Given the description of an element on the screen output the (x, y) to click on. 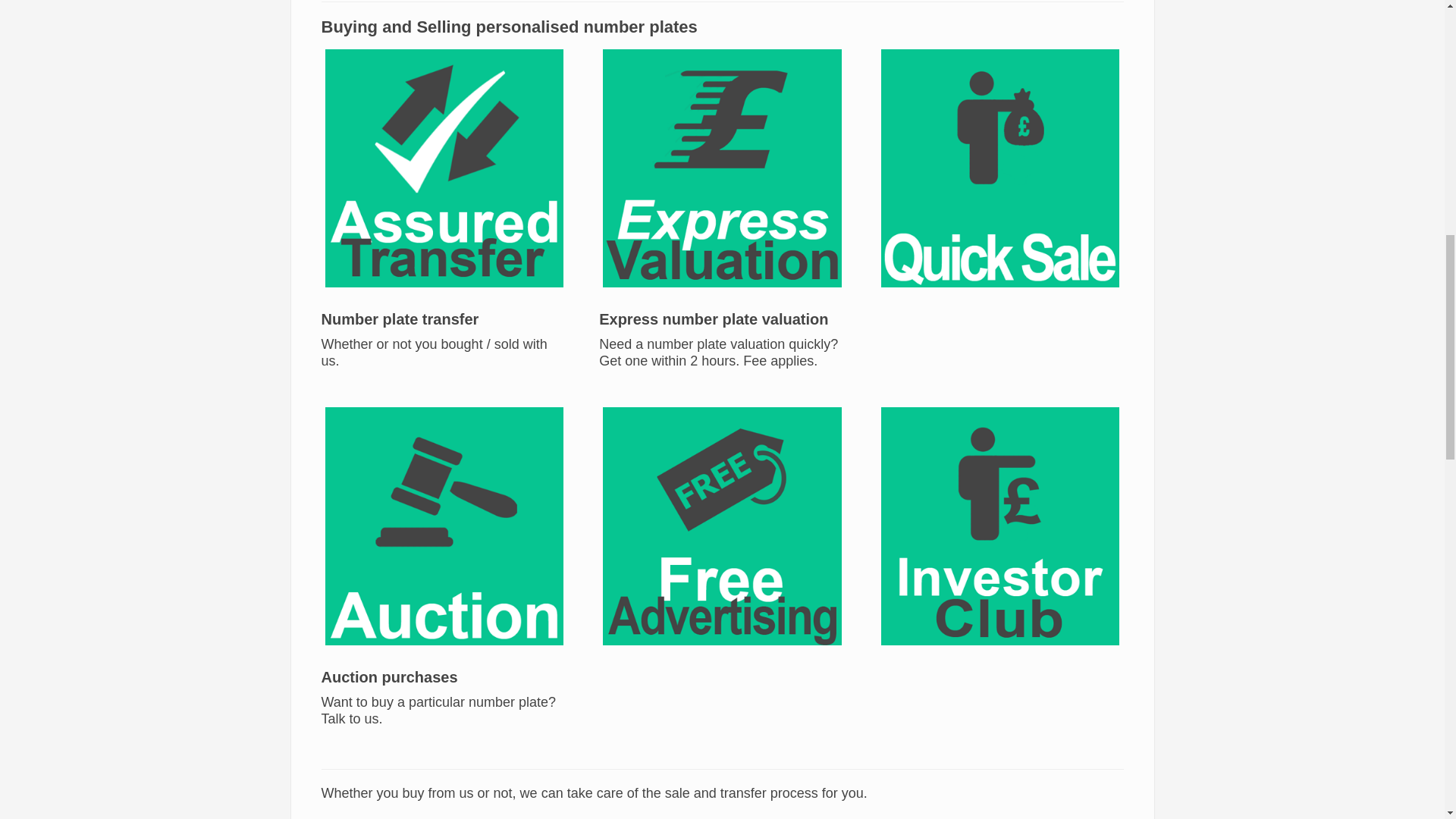
Get your desired number plate listed in the next auction (444, 526)
vet number plates (444, 167)
Private number plate assured transfer (444, 168)
traffic gridlock number plate ideas (999, 167)
vet number plates (444, 525)
plumber number plates (721, 167)
Sell my number plate instantly (999, 168)
Number plate express valuation (721, 168)
